Given the description of an element on the screen output the (x, y) to click on. 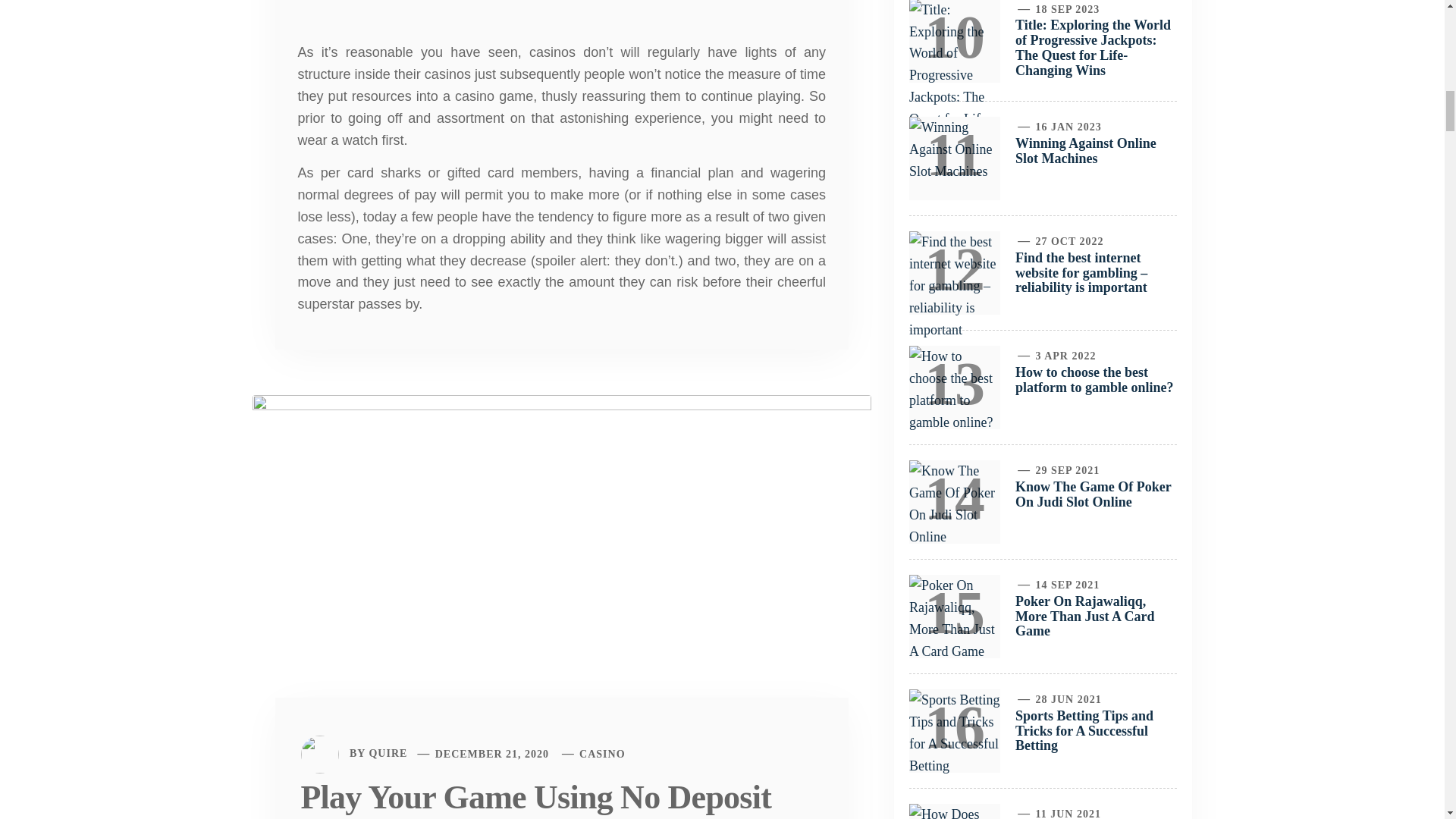
Play Your Game Using No Deposit Bonus (560, 567)
QUIRE (387, 754)
Play Your Game Using No Deposit Bonus (535, 798)
DECEMBER 21, 2020 (491, 754)
CASINO (601, 754)
